Given the description of an element on the screen output the (x, y) to click on. 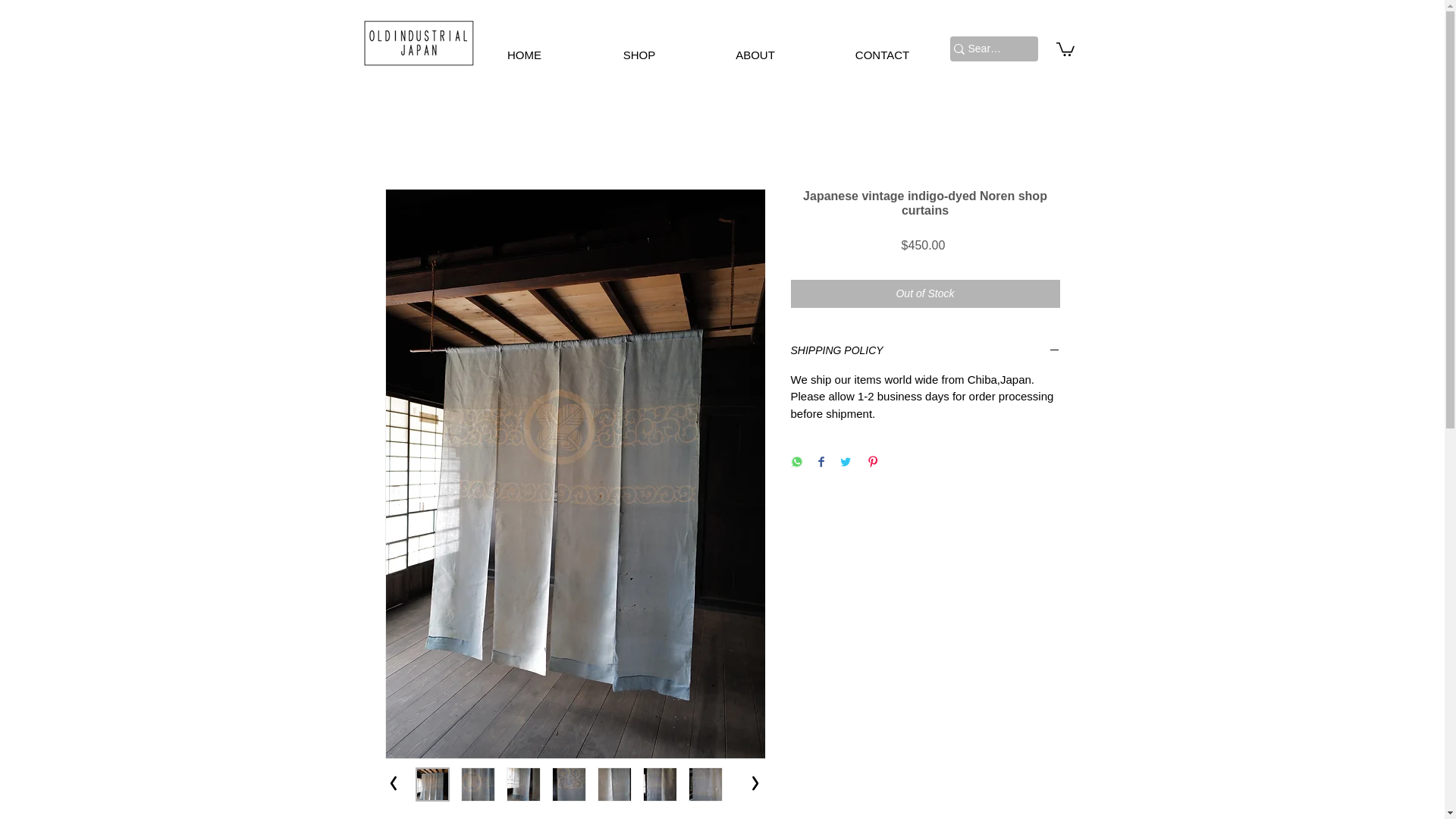
SHIPPING POLICY (924, 350)
Out of Stock (924, 293)
SHOP (638, 54)
HOME (523, 54)
ABOUT (755, 54)
CONTACT (881, 54)
